Given the description of an element on the screen output the (x, y) to click on. 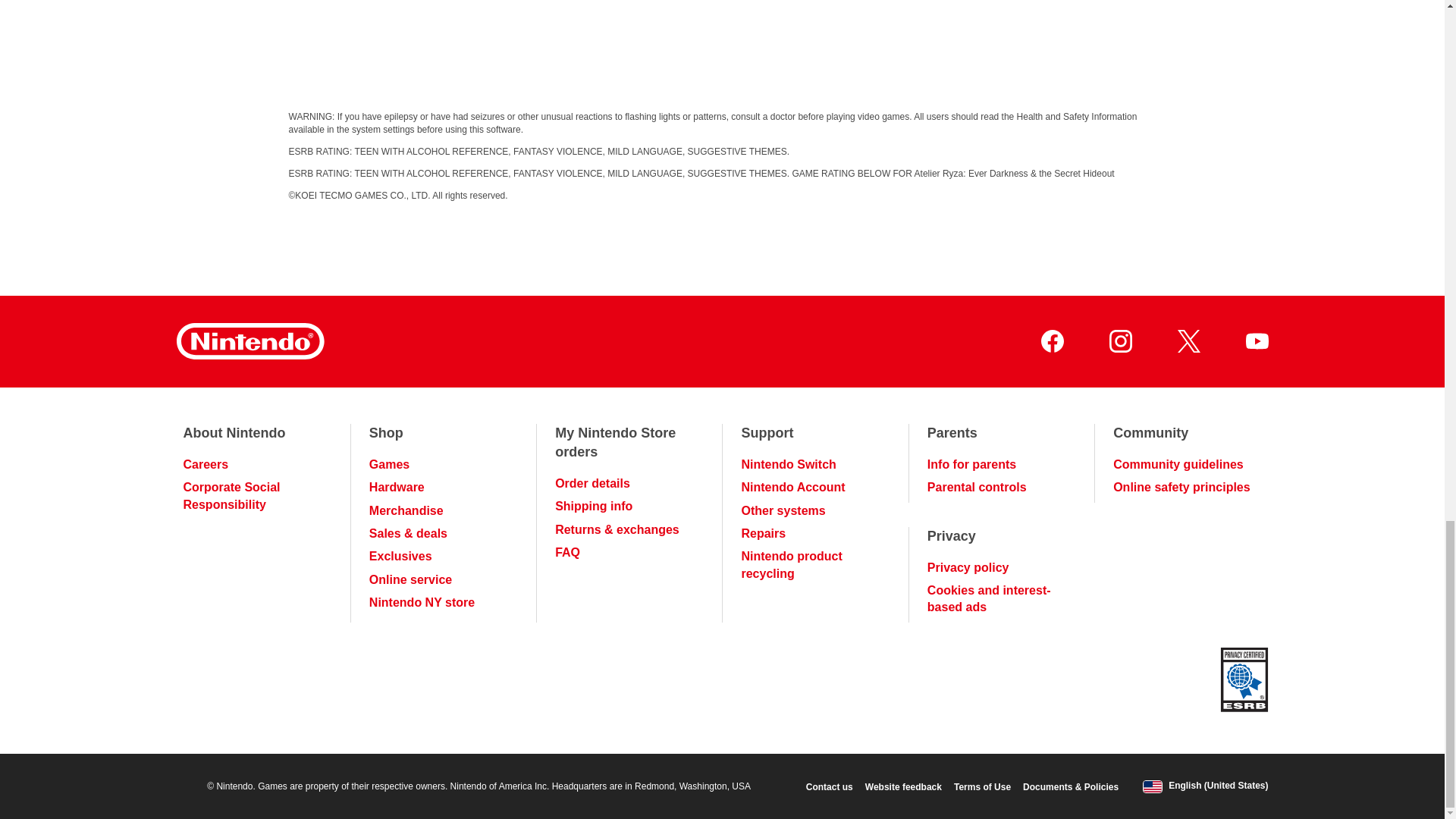
Nintendo on Twitter (1187, 341)
Nintendo on YouTube (1256, 341)
Nintendo on Instagram (1119, 341)
Nintendo on Facebook (1051, 341)
Nintendo Homepage (249, 340)
